Given the description of an element on the screen output the (x, y) to click on. 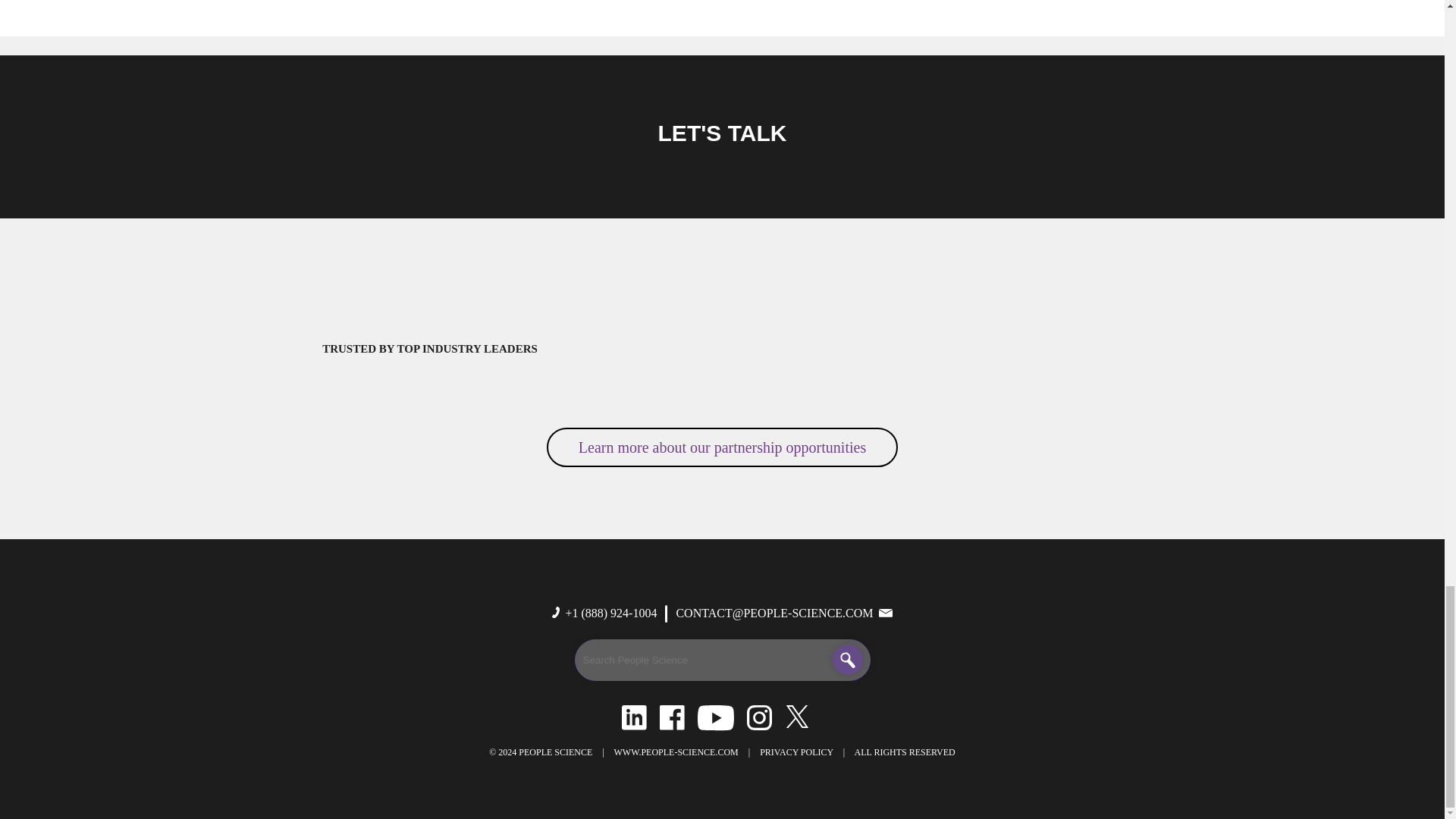
People Science on Facebook (671, 716)
People Science on LinkedIn (633, 716)
People Science on Youtube (715, 716)
Contact Us by Email (773, 612)
